Given the description of an element on the screen output the (x, y) to click on. 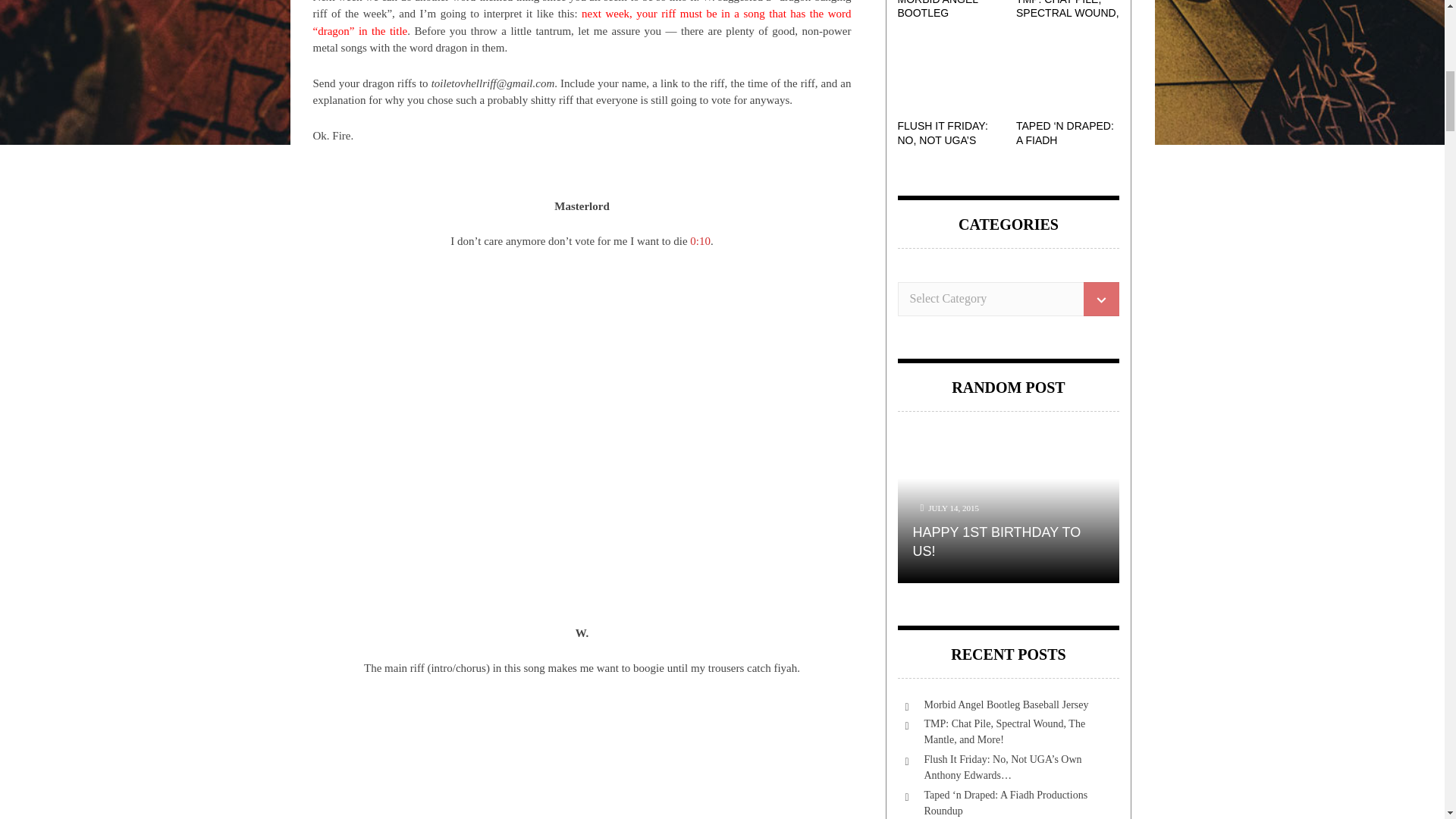
YouTube player (581, 757)
